Given the description of an element on the screen output the (x, y) to click on. 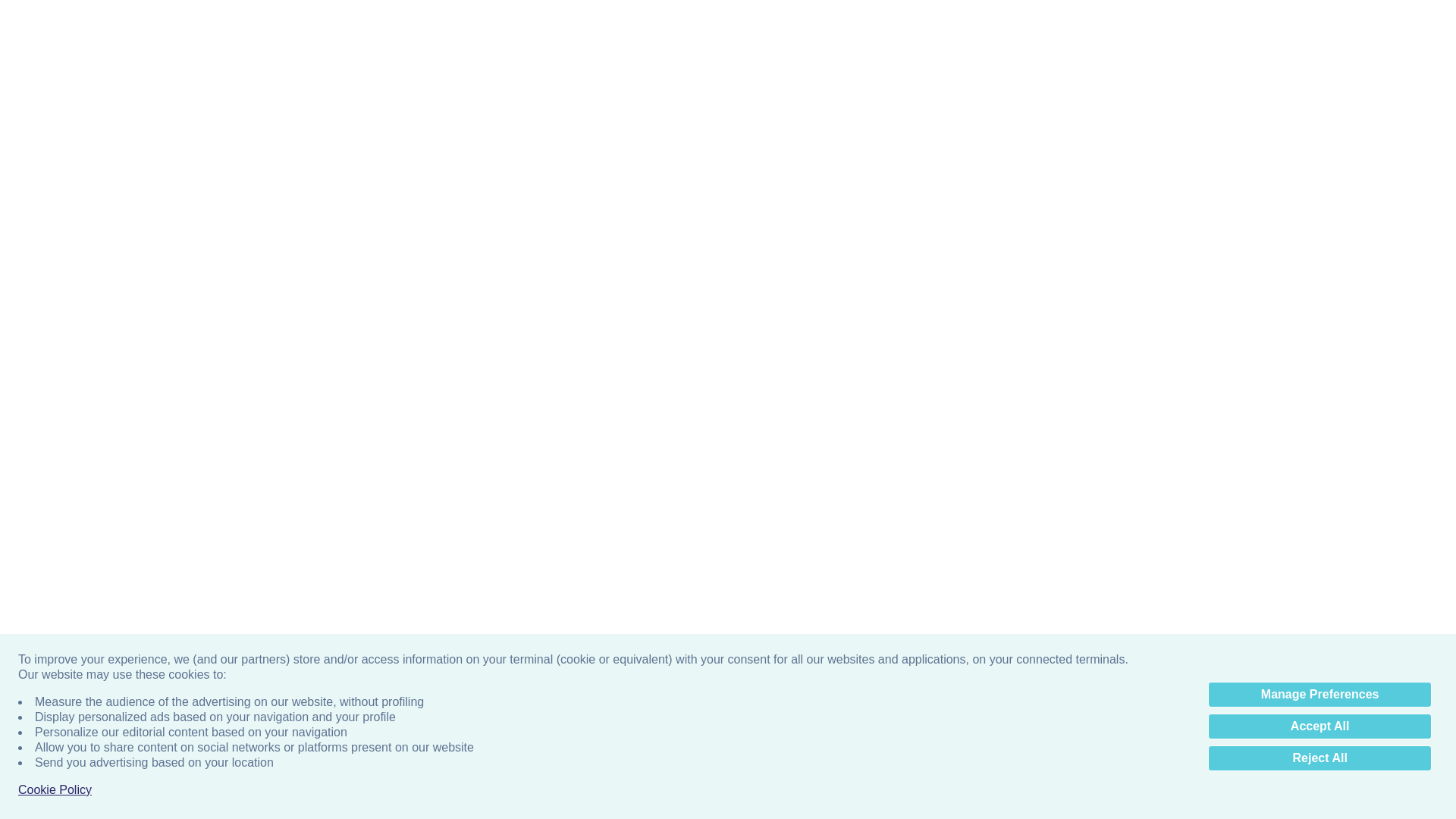
Accept All (1319, 95)
Reject All (1319, 127)
Manage Preferences (1319, 63)
Cookie Policy (54, 159)
